Given the description of an element on the screen output the (x, y) to click on. 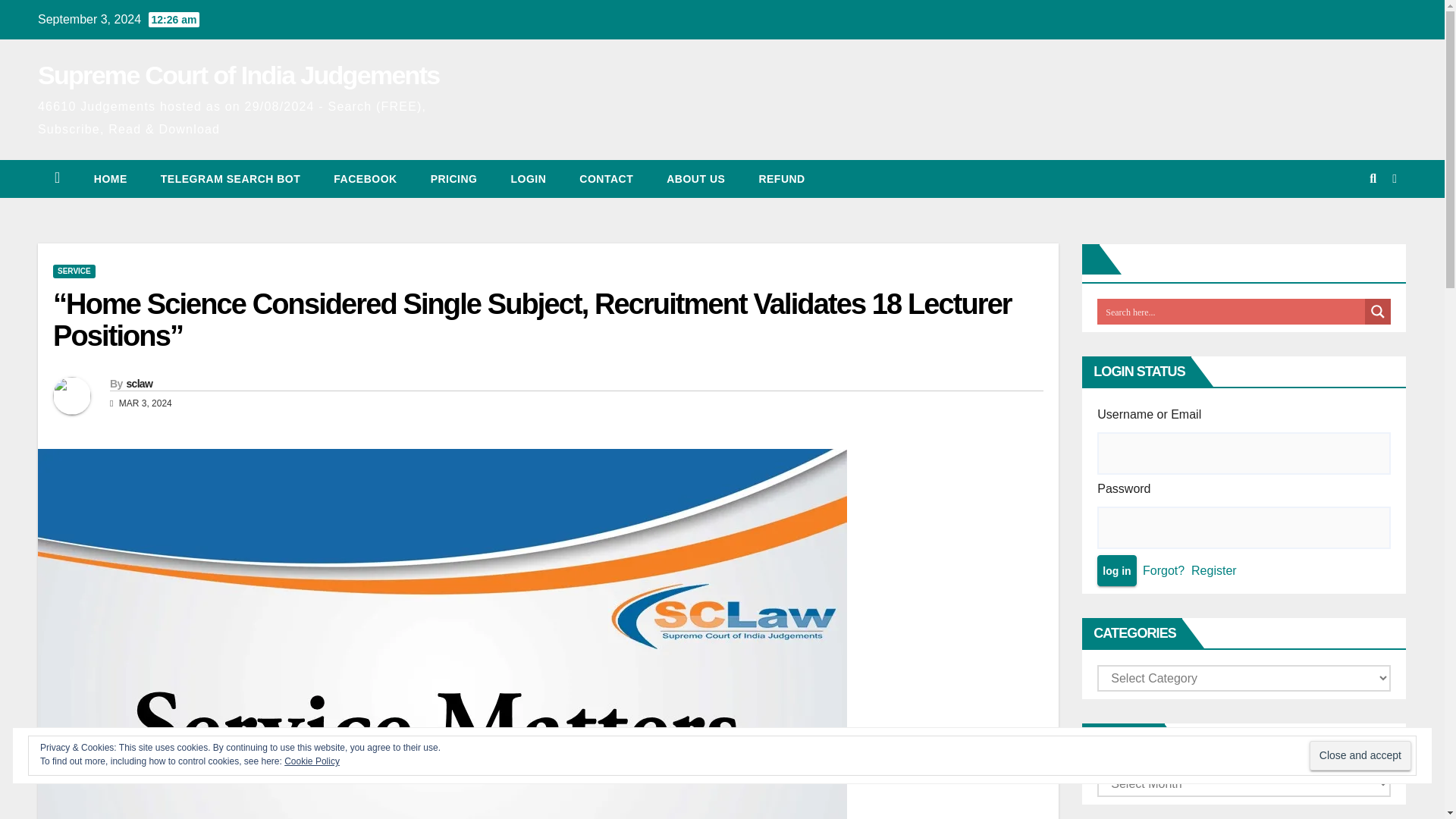
Home (110, 178)
TELEGRAM SEARCH BOT (230, 178)
FACEBOOK (365, 178)
PRICING (454, 178)
CONTACT (605, 178)
SERVICE (74, 271)
sclaw (138, 383)
Refund (781, 178)
Facebook (365, 178)
TELEGRAM SEARCH BOT (230, 178)
